Given the description of an element on the screen output the (x, y) to click on. 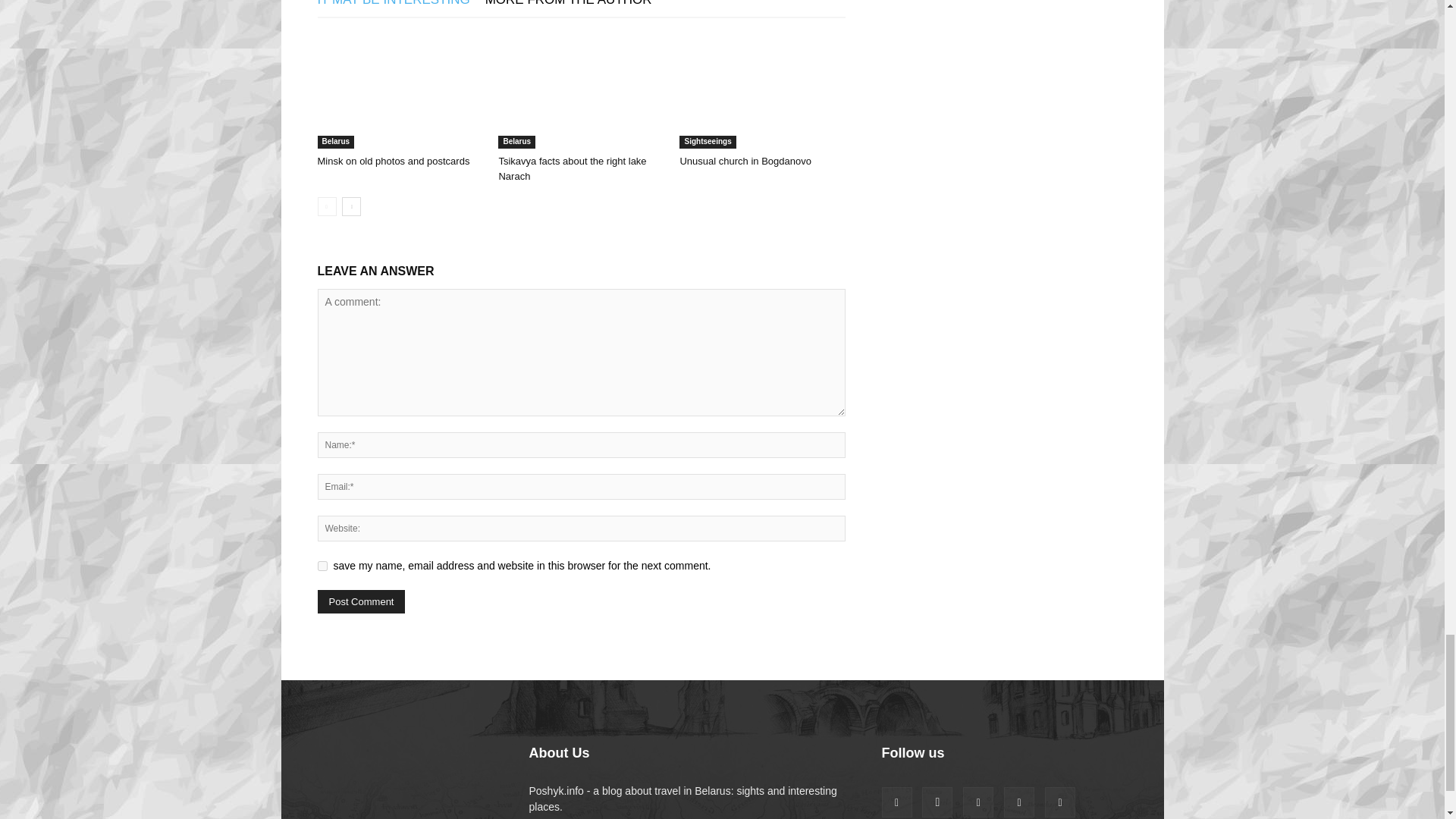
Post Comment (360, 601)
yes (321, 565)
